Given the description of an element on the screen output the (x, y) to click on. 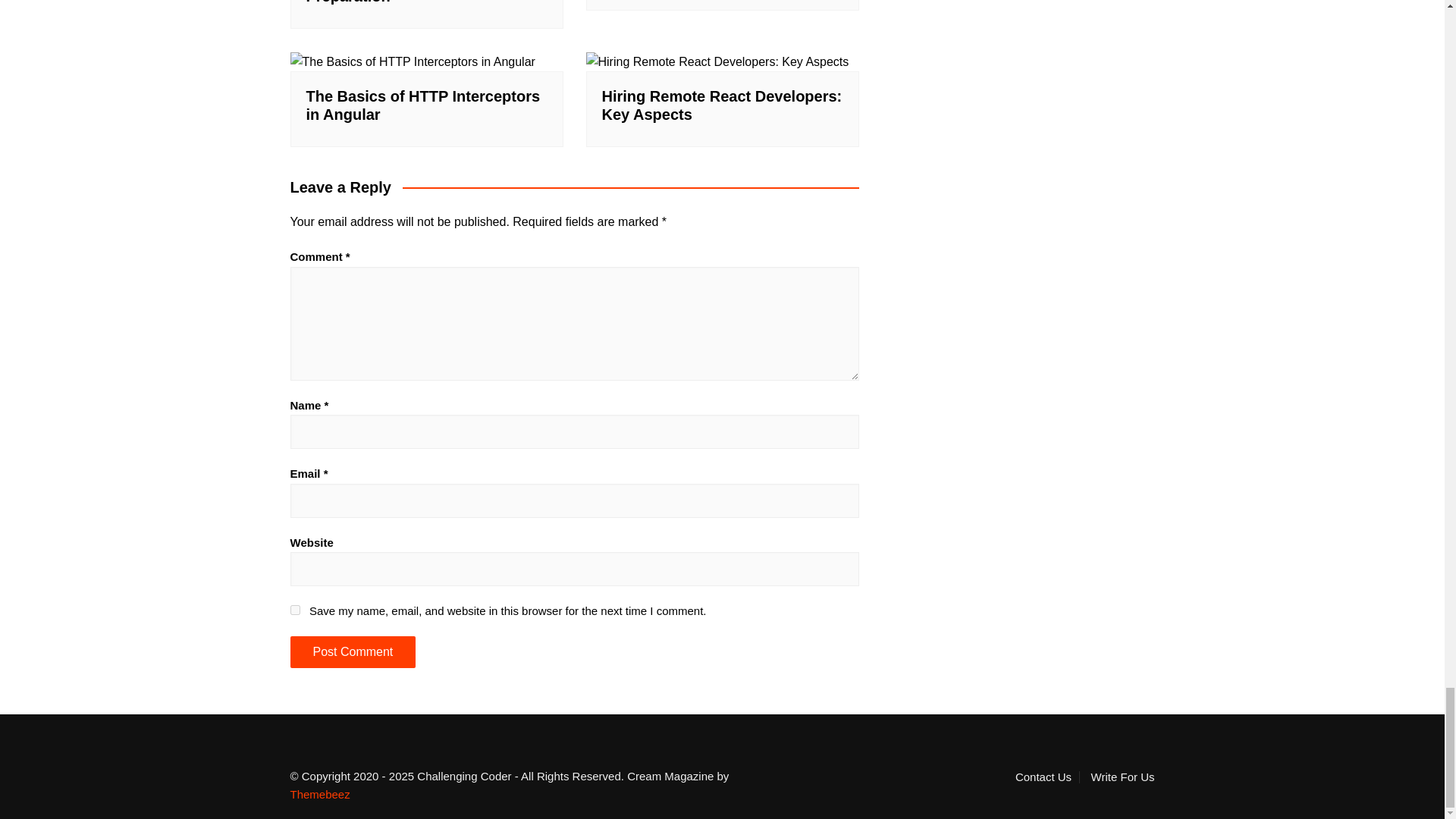
Post Comment (351, 652)
yes (294, 610)
